Given the description of an element on the screen output the (x, y) to click on. 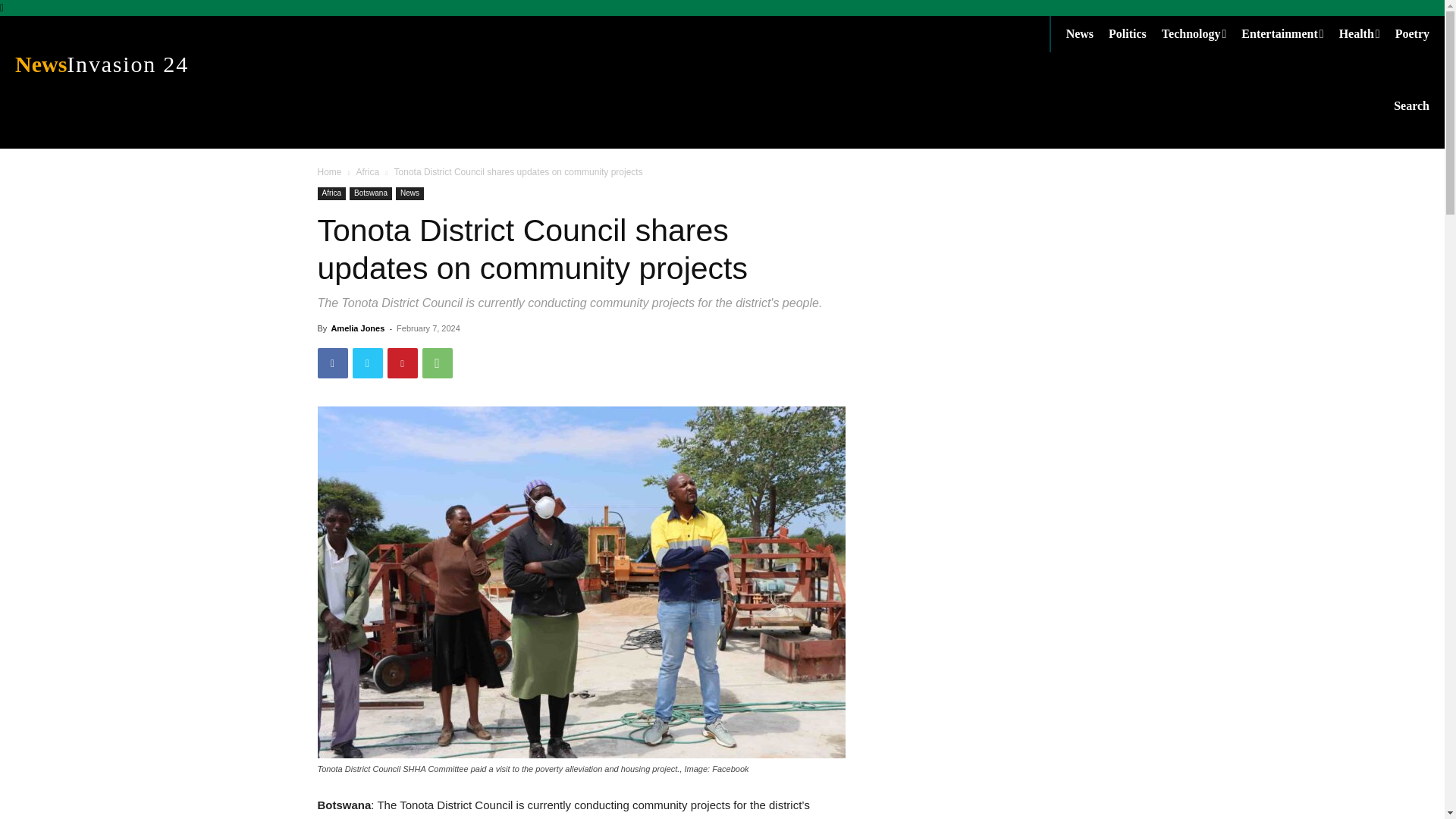
Entertainment (1289, 33)
Twitter (366, 363)
Search (173, 63)
Pinterest (1411, 105)
View all posts in Africa (401, 363)
Technology (366, 172)
WhatsApp (1201, 33)
Politics (436, 363)
News (1134, 33)
Health (1086, 33)
Facebook (1366, 33)
